Given the description of an element on the screen output the (x, y) to click on. 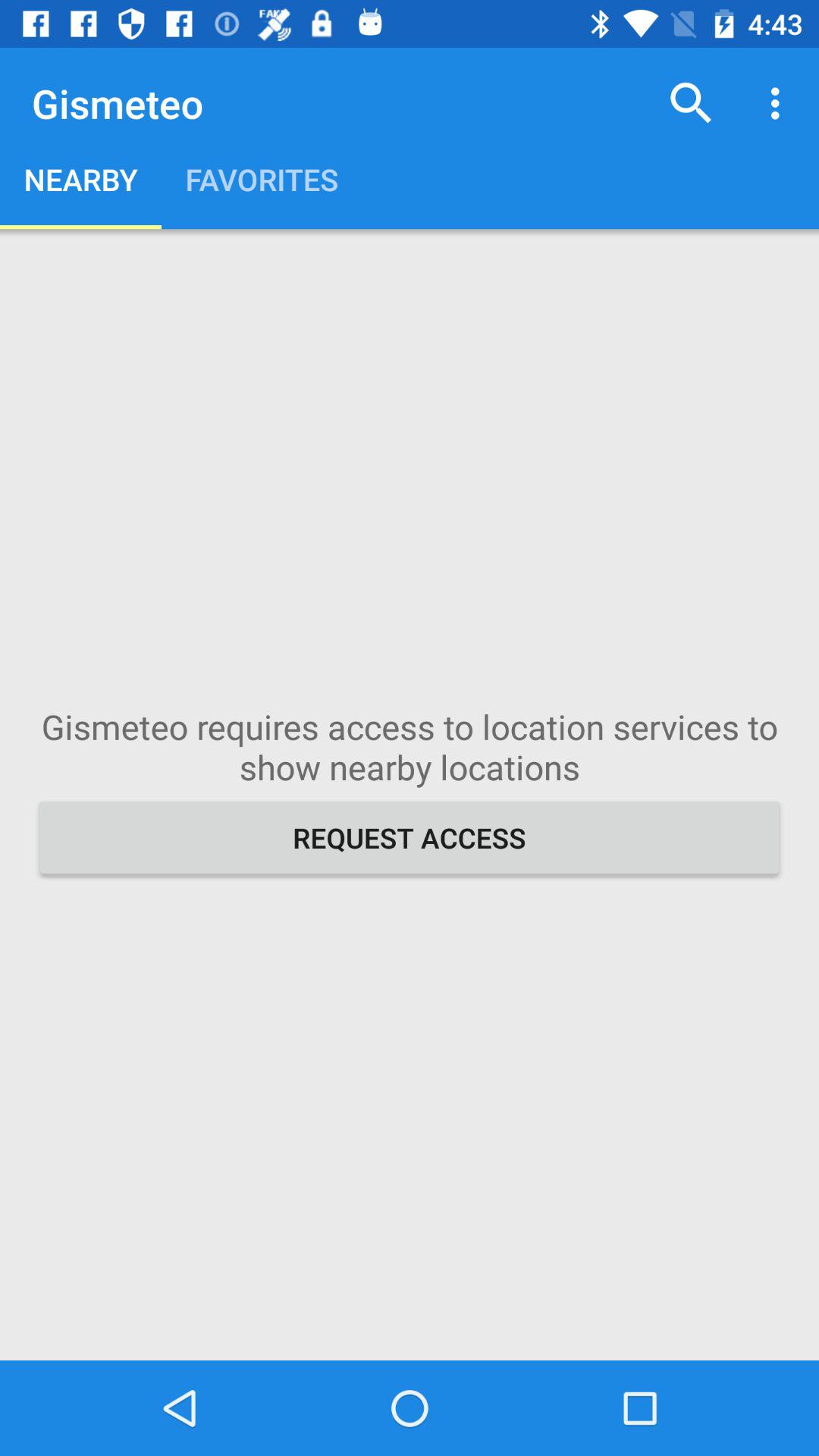
choose the item below gismeteo requires access icon (409, 837)
